Given the description of an element on the screen output the (x, y) to click on. 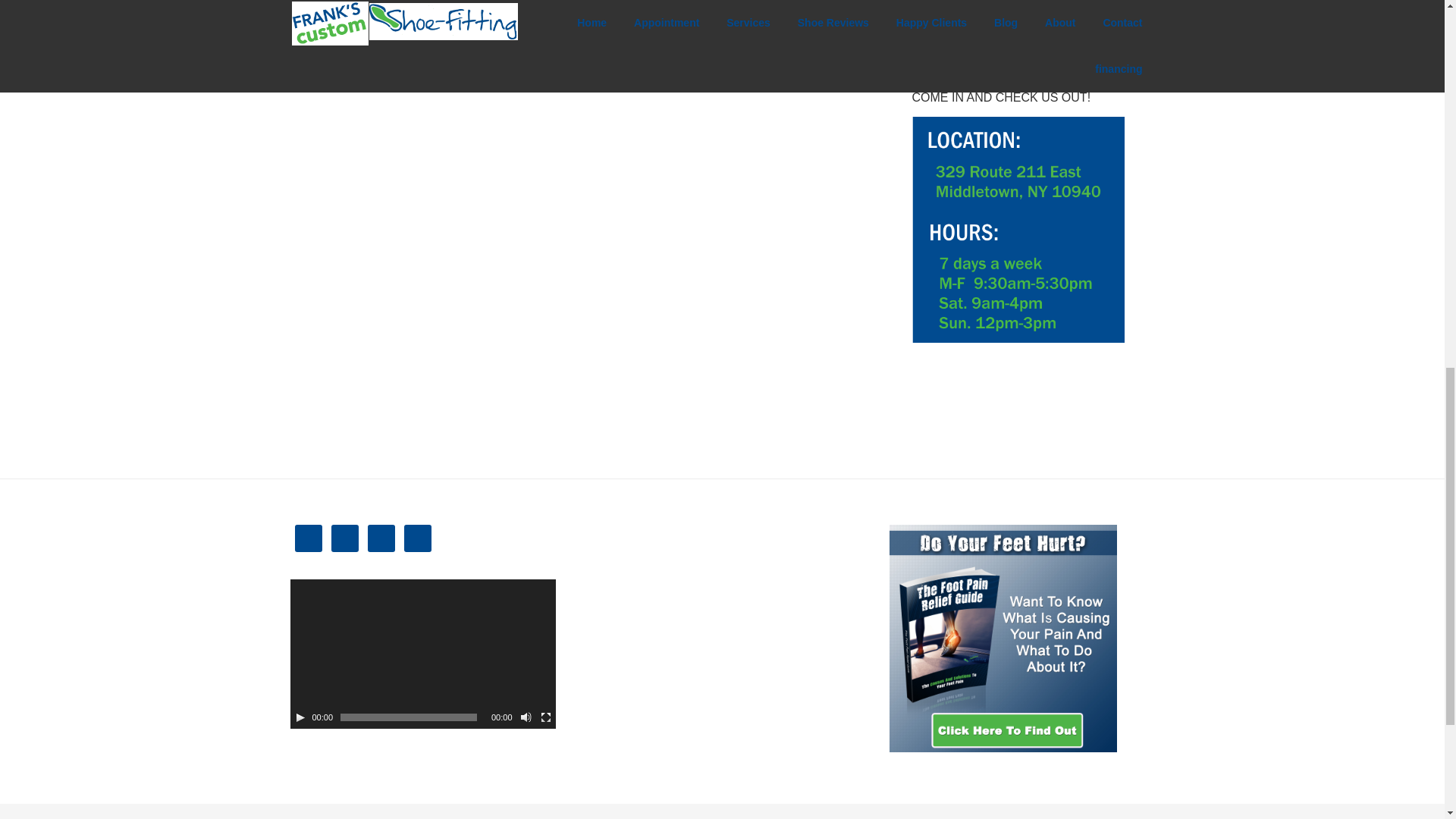
Play (299, 717)
Mute (525, 717)
Fullscreen (545, 717)
